Given the description of an element on the screen output the (x, y) to click on. 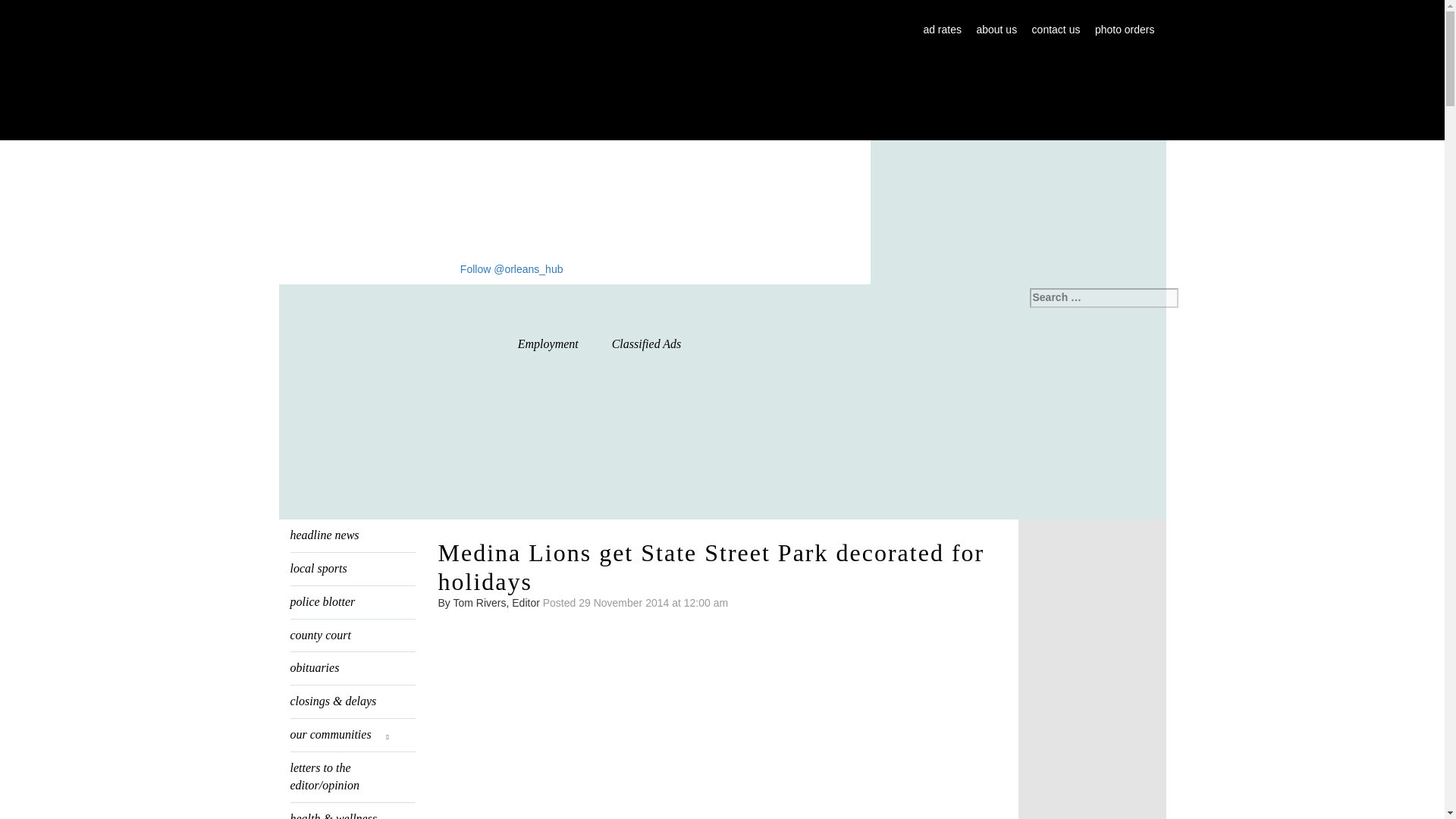
Community Directory (820, 345)
Orleans Hub Photo Orders (1124, 29)
Orleans Hub Ad Rates (941, 29)
county court (351, 635)
About Orleans Hub (995, 29)
Find Orleans Hub on Facebook (445, 268)
Classified Ads (646, 344)
contact us (1056, 29)
Contact with Orleans Hub (1056, 29)
photo orders (1124, 29)
